Given the description of an element on the screen output the (x, y) to click on. 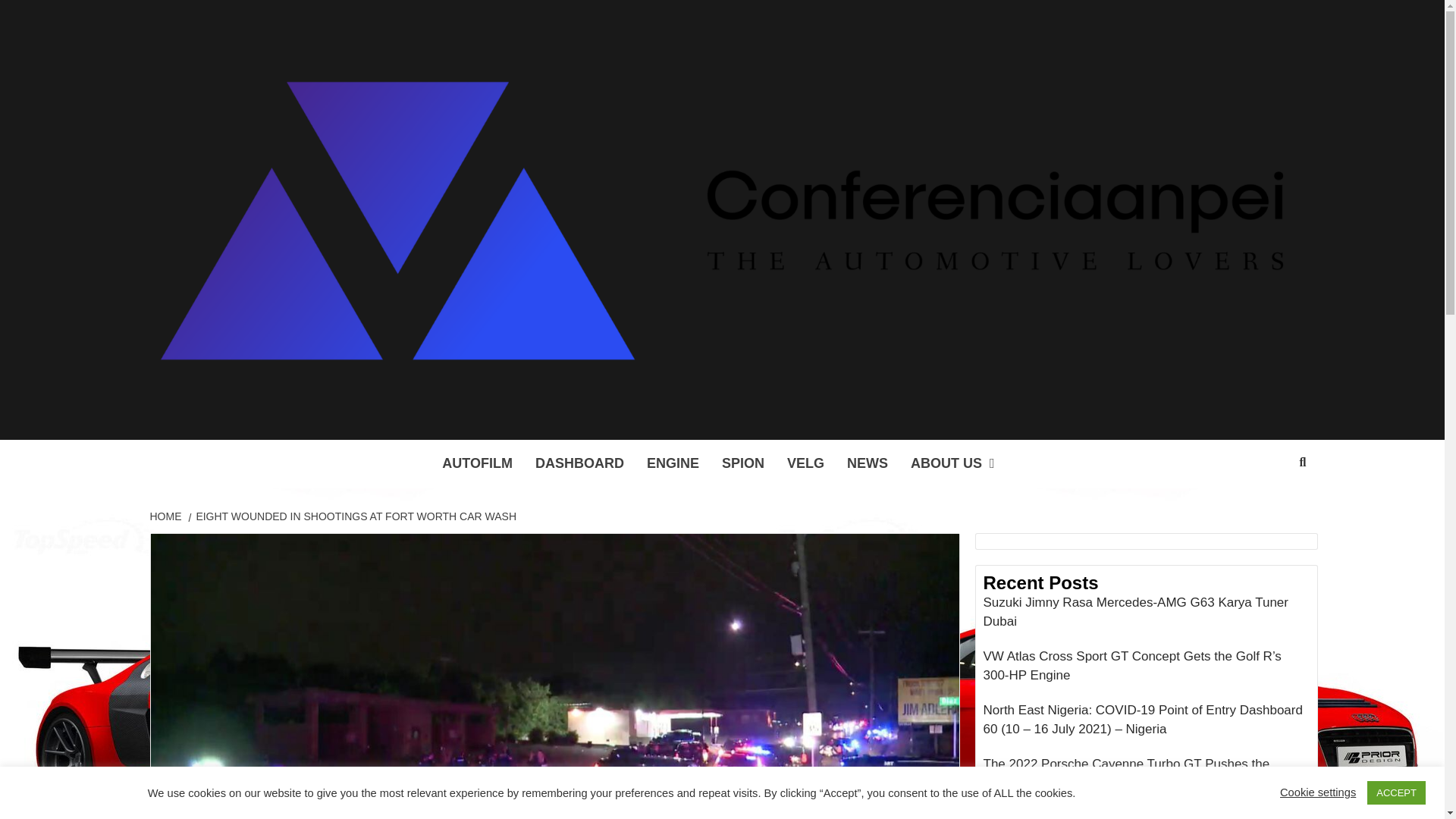
AUTOFILM (477, 463)
HOME (167, 515)
DASHBOARD (579, 463)
EIGHT WOUNDED IN SHOOTINGS AT FORT WORTH CAR WASH (353, 515)
ABOUT US (956, 463)
Suzuki Jimny Rasa Mercedes-AMG G63 Karya Tuner Dubai (1145, 615)
ENGINE (672, 463)
CONFERENCIAANPEI (535, 420)
VELG (805, 463)
